Given the description of an element on the screen output the (x, y) to click on. 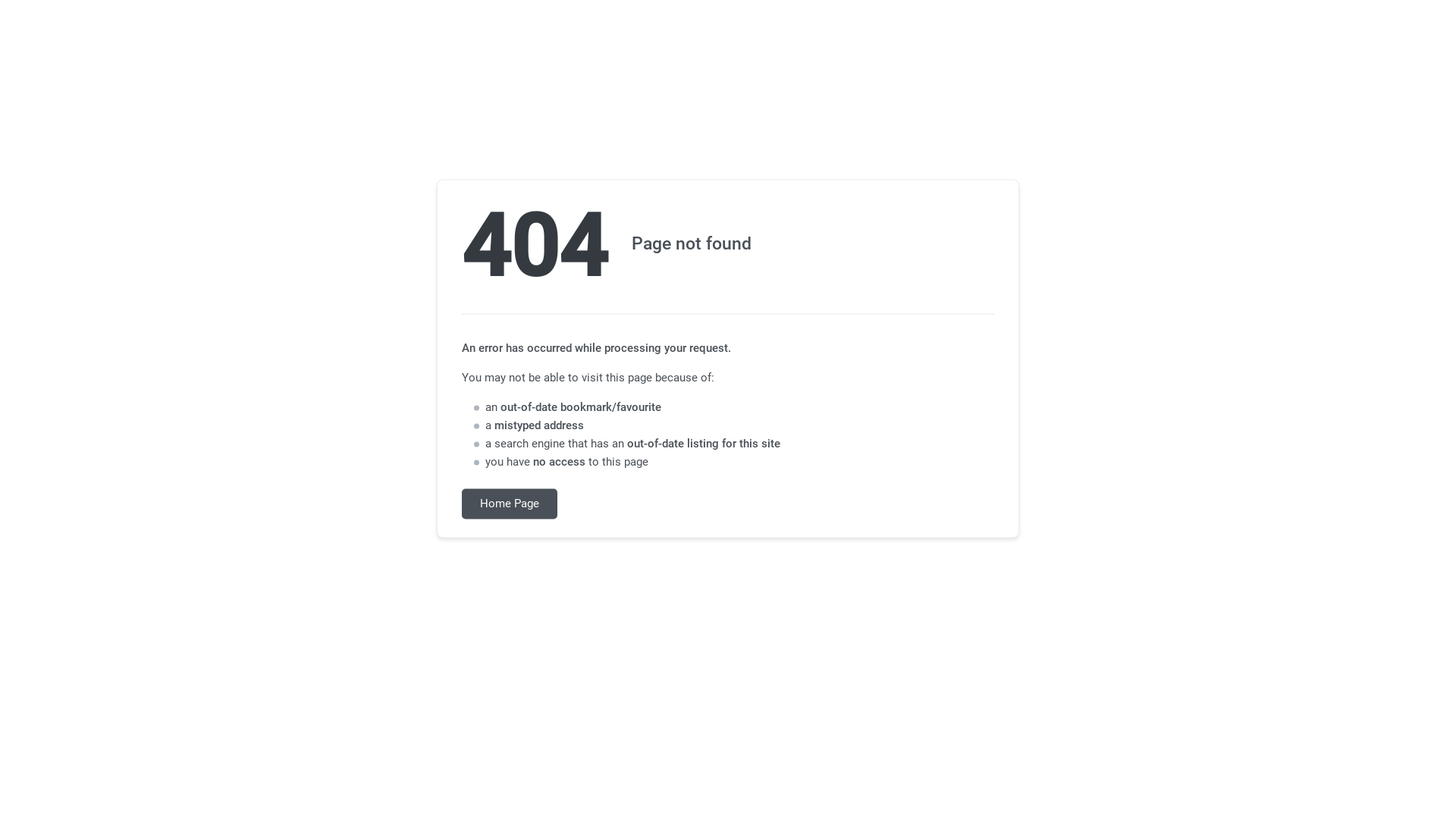
Home Page Element type: text (509, 503)
